Given the description of an element on the screen output the (x, y) to click on. 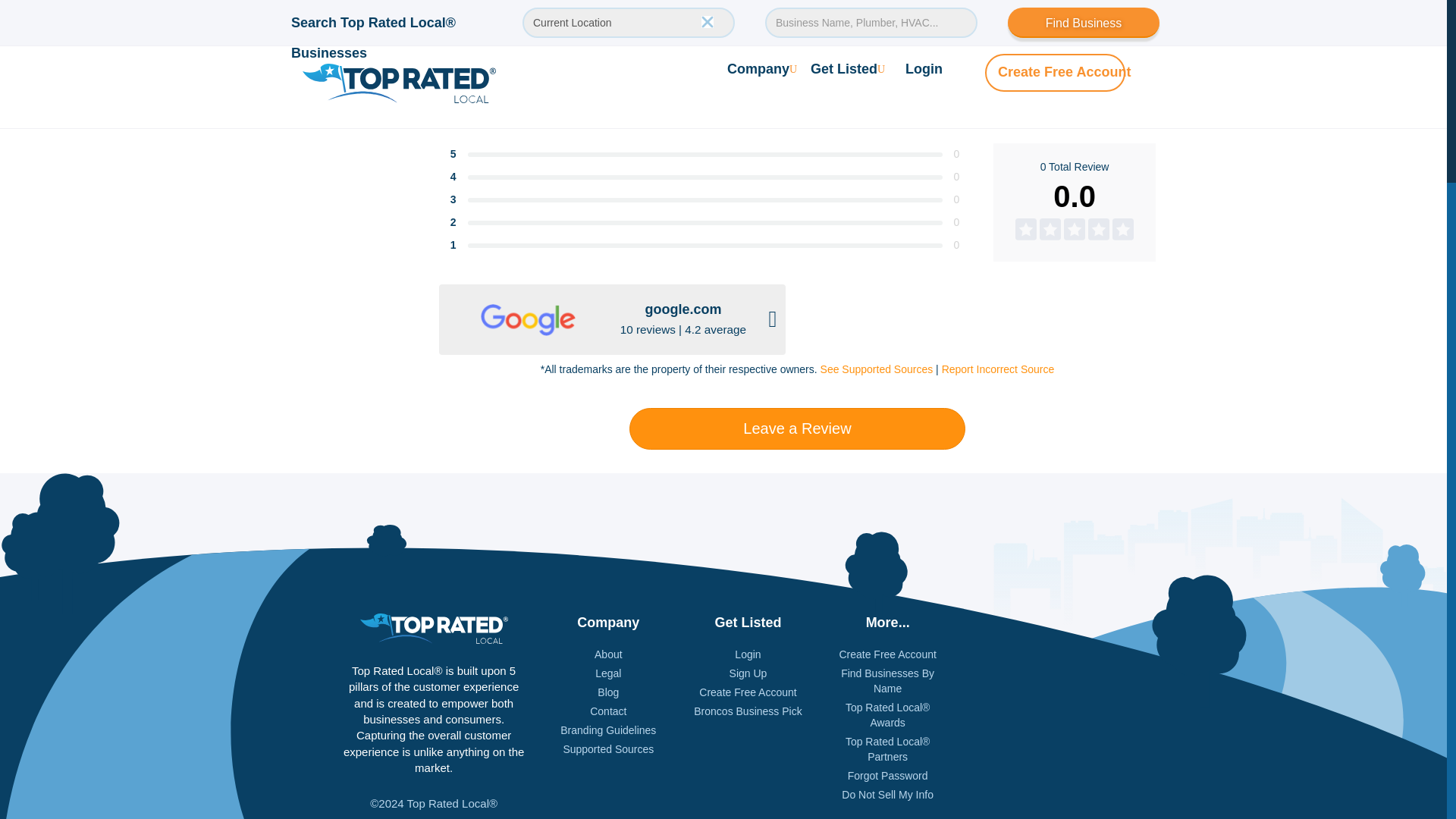
Rate (484, 87)
Computer IT Services (490, 16)
Claim Business (354, 88)
